Given the description of an element on the screen output the (x, y) to click on. 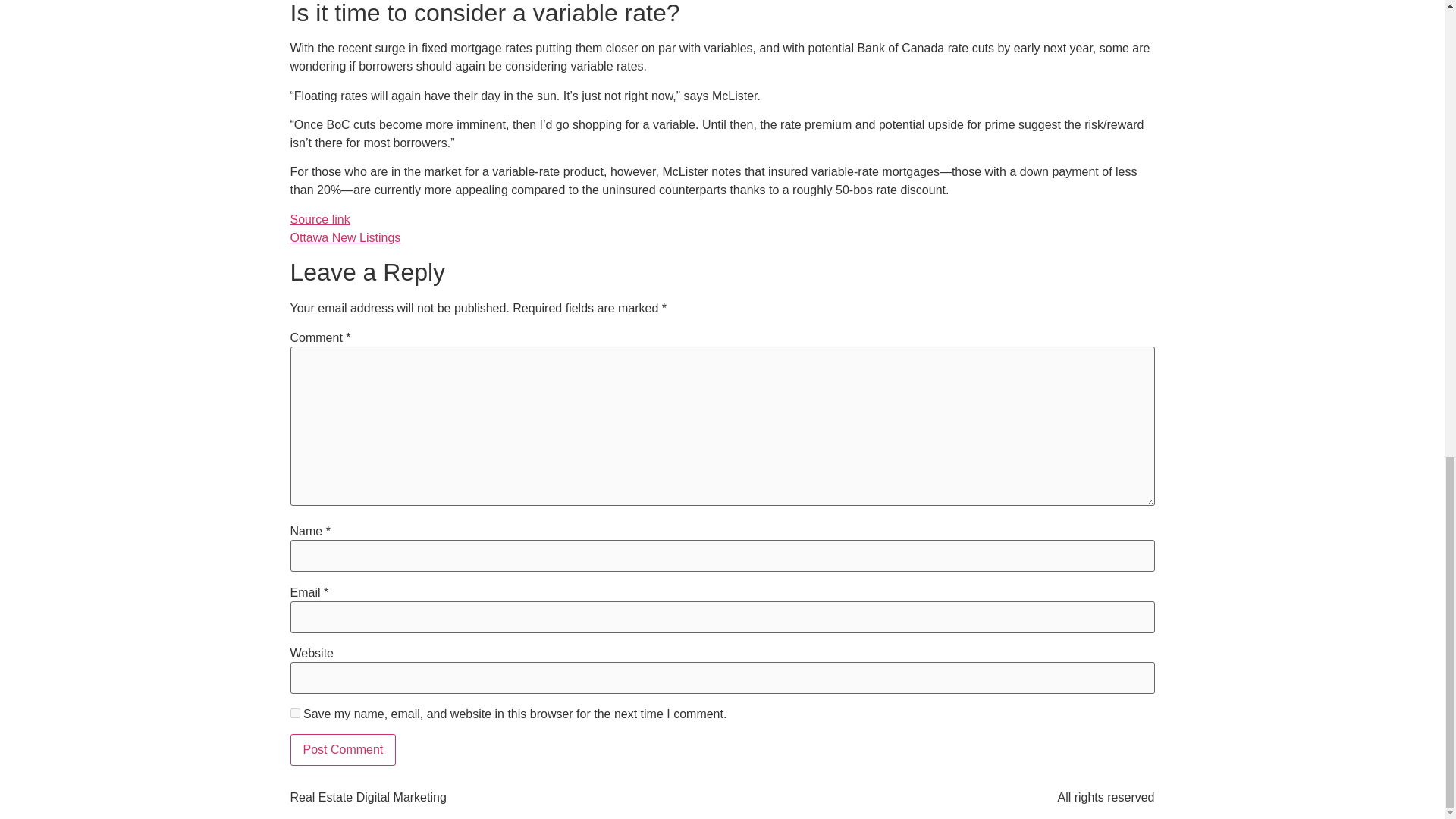
Ottawa New Listings (344, 237)
Post Comment (342, 749)
Ottawa New Listings (344, 237)
Source link (319, 219)
Post Comment (342, 749)
yes (294, 713)
